Given the description of an element on the screen output the (x, y) to click on. 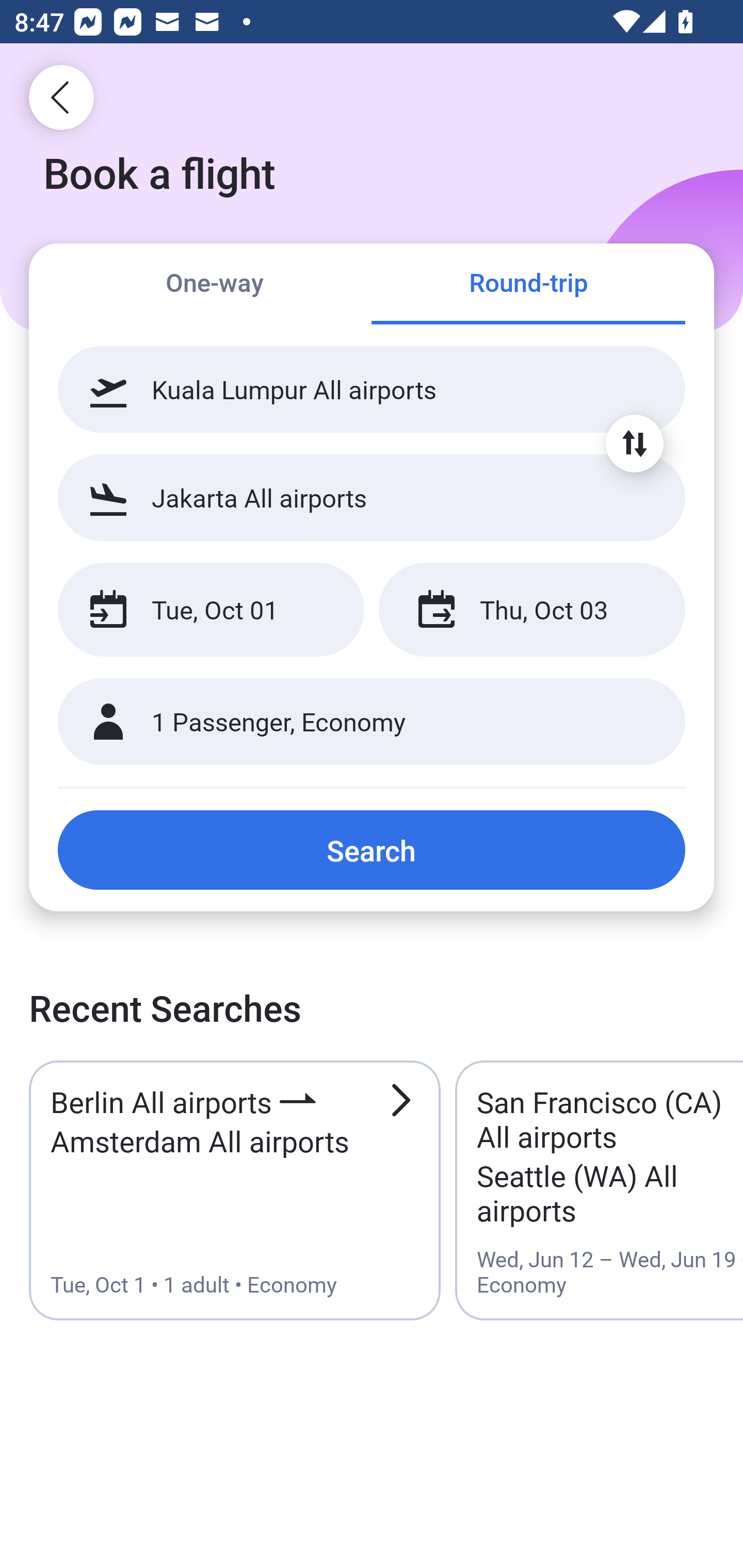
One-way (214, 284)
Kuala Lumpur All airports (371, 389)
Jakarta All airports (371, 497)
Tue, Oct 01 (210, 609)
Thu, Oct 03 (531, 609)
1 Passenger, Economy (371, 721)
Search (371, 849)
